Given the description of an element on the screen output the (x, y) to click on. 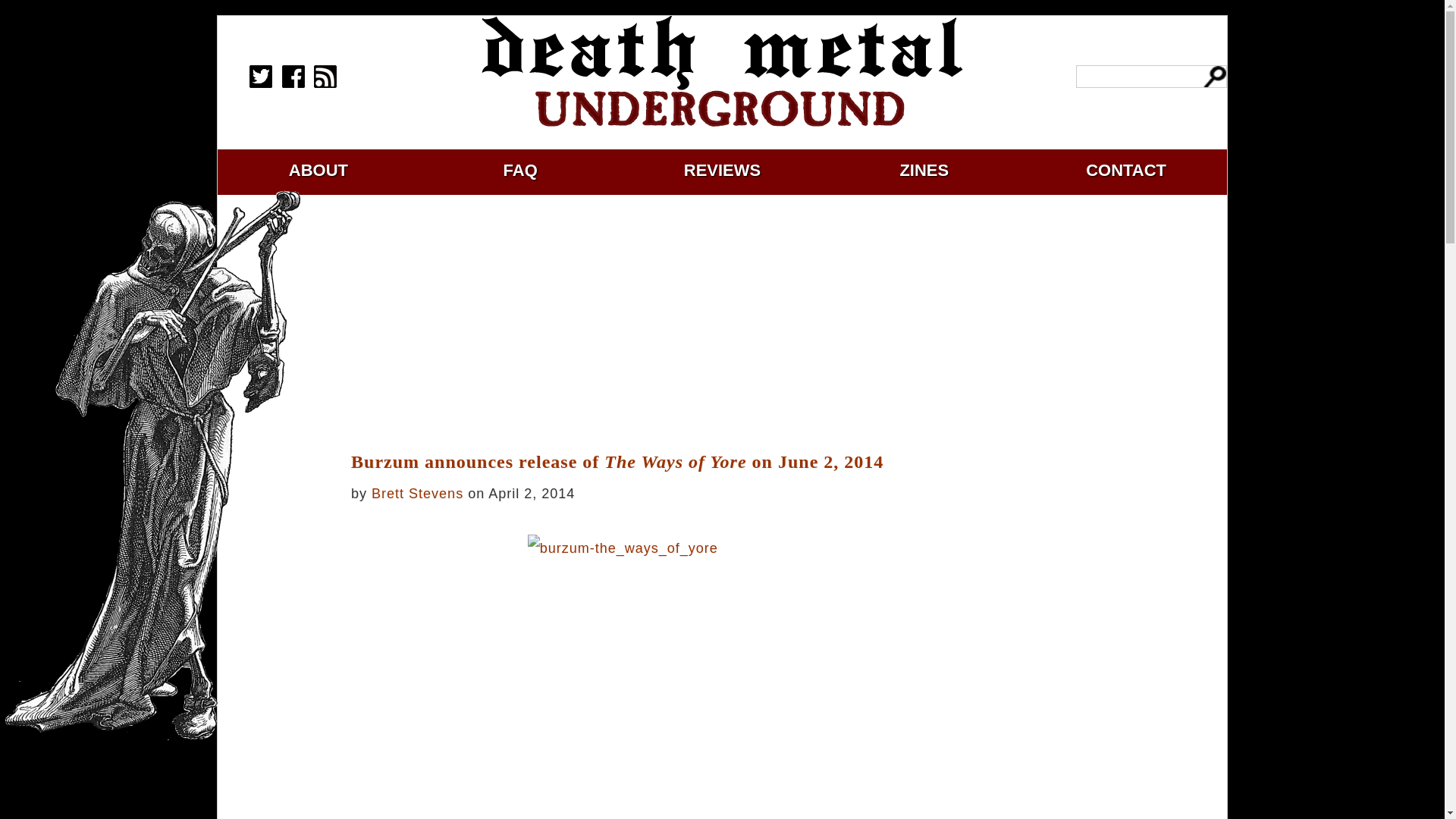
REVIEWS (722, 169)
ZINES (924, 169)
Burzum announces release of The Ways of Yore on June 2, 2014 (754, 461)
Brett Stevens (417, 493)
CONTACT (1126, 169)
FAQ (520, 169)
ABOUT (317, 169)
